Given the description of an element on the screen output the (x, y) to click on. 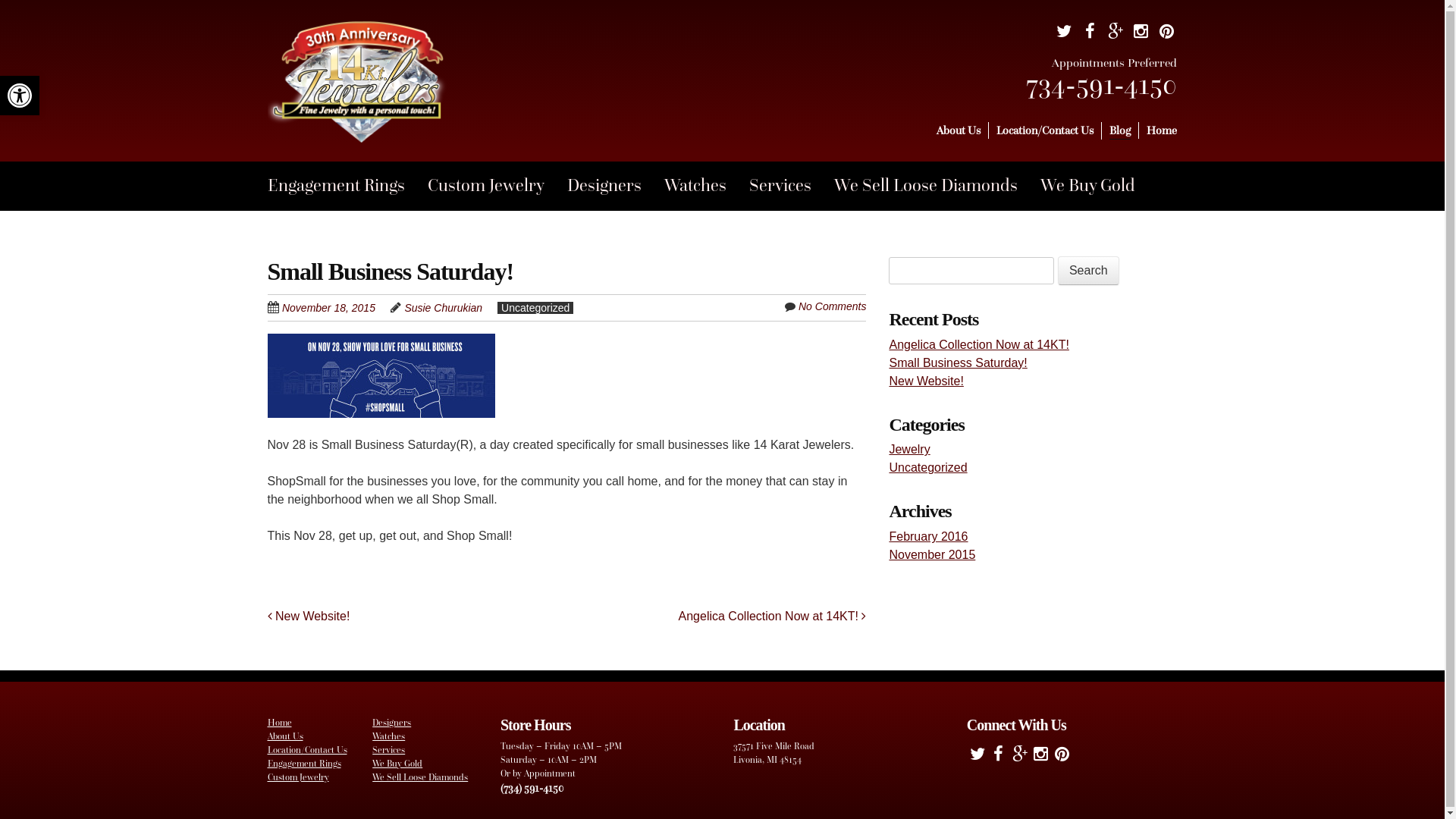
Follow me on Twitter Element type: hover (977, 756)
Location/Contact Us Element type: text (306, 749)
Designers Element type: text (615, 185)
February 2016 Element type: text (927, 536)
November 2015 Element type: text (931, 554)
Uncategorized Element type: text (927, 467)
New Website! Element type: text (307, 615)
Services Element type: text (388, 749)
New Website! Element type: text (925, 380)
Susie Churukian Element type: text (443, 307)
Friend me on Facebook Element type: hover (1089, 33)
Home Element type: text (1161, 130)
Skip to content Element type: text (961, 131)
Custom Jewelry Element type: text (297, 776)
Open toolbar
Accessibility Tools Element type: text (19, 95)
About Us Element type: text (284, 736)
Engagement Rings Element type: text (303, 763)
We Sell Loose Diamonds Element type: text (937, 185)
November 18, 2015 Element type: text (336, 307)
Follow me on Pinterest Element type: hover (1062, 756)
14 Karat Jewelers Element type: hover (357, 115)
About Us Element type: text (958, 130)
Follow me on Instagram Element type: hover (1140, 33)
Location/Contact Us Element type: text (1044, 130)
Angelica Collection Now at 14KT! Element type: text (772, 615)
We Sell Loose Diamonds Element type: text (419, 776)
Angelica Collection Now at 14KT! Element type: text (978, 344)
Uncategorized Element type: text (535, 307)
Custom Jewelry Element type: text (497, 185)
We Buy Gold Element type: text (1098, 185)
Services Element type: text (791, 185)
Search Element type: text (1088, 270)
Follow me on G+ Element type: hover (1019, 756)
Home Element type: text (278, 722)
Designers Element type: text (391, 722)
We Buy Gold Element type: text (397, 763)
Blog Element type: text (1119, 131)
Follow me on Twitter Element type: hover (1063, 33)
Follow me on Instagram Element type: hover (1040, 756)
Watches Element type: text (388, 736)
Watches Element type: text (706, 185)
Jewelry Element type: text (908, 448)
No Comments Element type: text (832, 306)
Connect with me on Google+ Element type: hover (1115, 33)
Engagement Rings Element type: text (346, 185)
Friend me on Facebook Element type: hover (998, 756)
Follow me on Pinterest Element type: hover (1165, 33)
Small Business Saturday! Element type: text (957, 362)
